Given the description of an element on the screen output the (x, y) to click on. 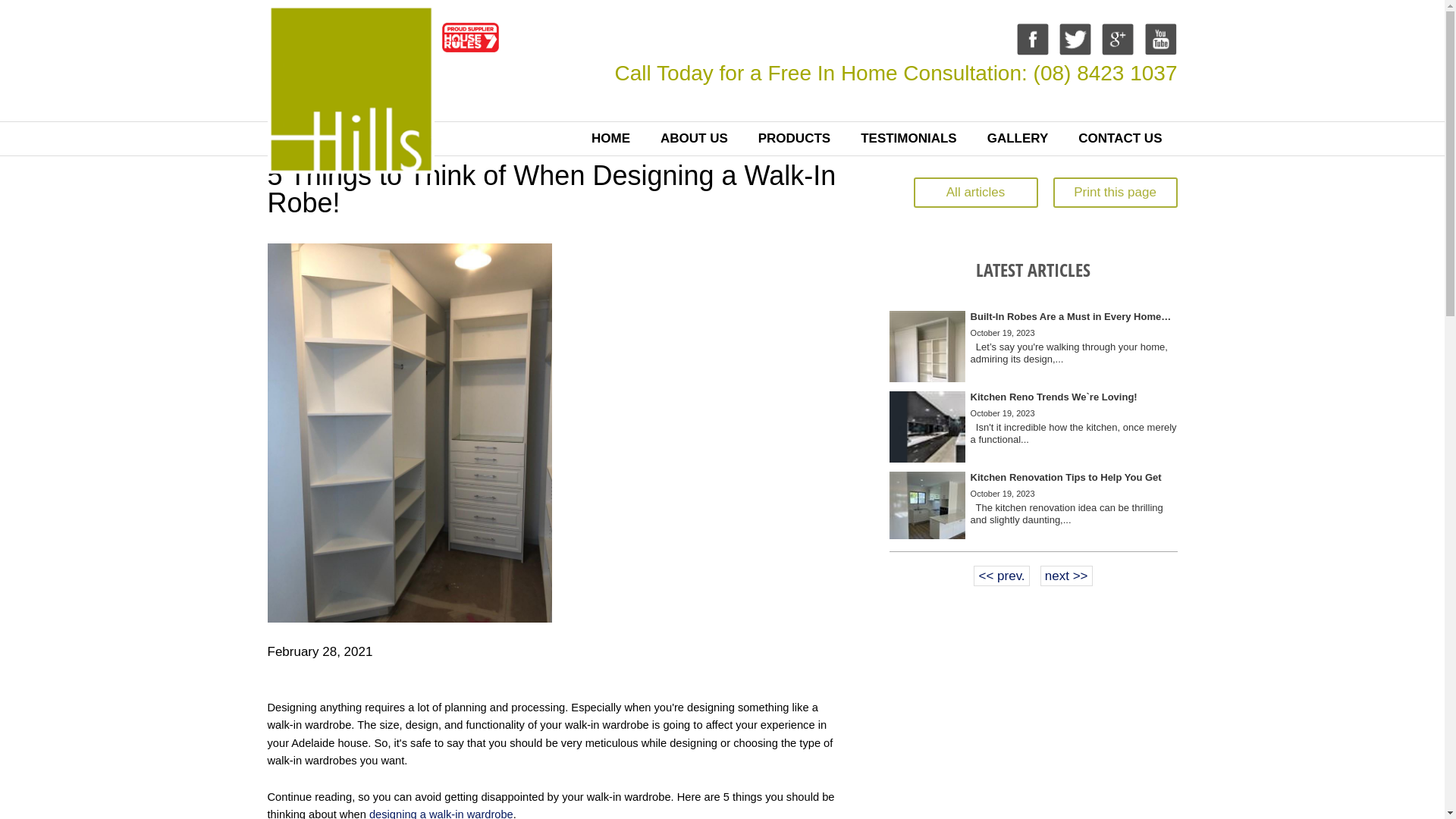
PRODUCTS Element type: text (794, 138)
<< prev. Element type: text (1001, 575)
HOME Element type: text (610, 138)
GALLERY Element type: text (1017, 138)
Media Element type: hover (1032, 419)
next >> Element type: text (1066, 575)
ABOUT US Element type: text (694, 138)
TESTIMONIALS Element type: text (908, 138)
CONTACT US Element type: text (1119, 138)
Print this page Element type: text (1114, 192)
